Given the description of an element on the screen output the (x, y) to click on. 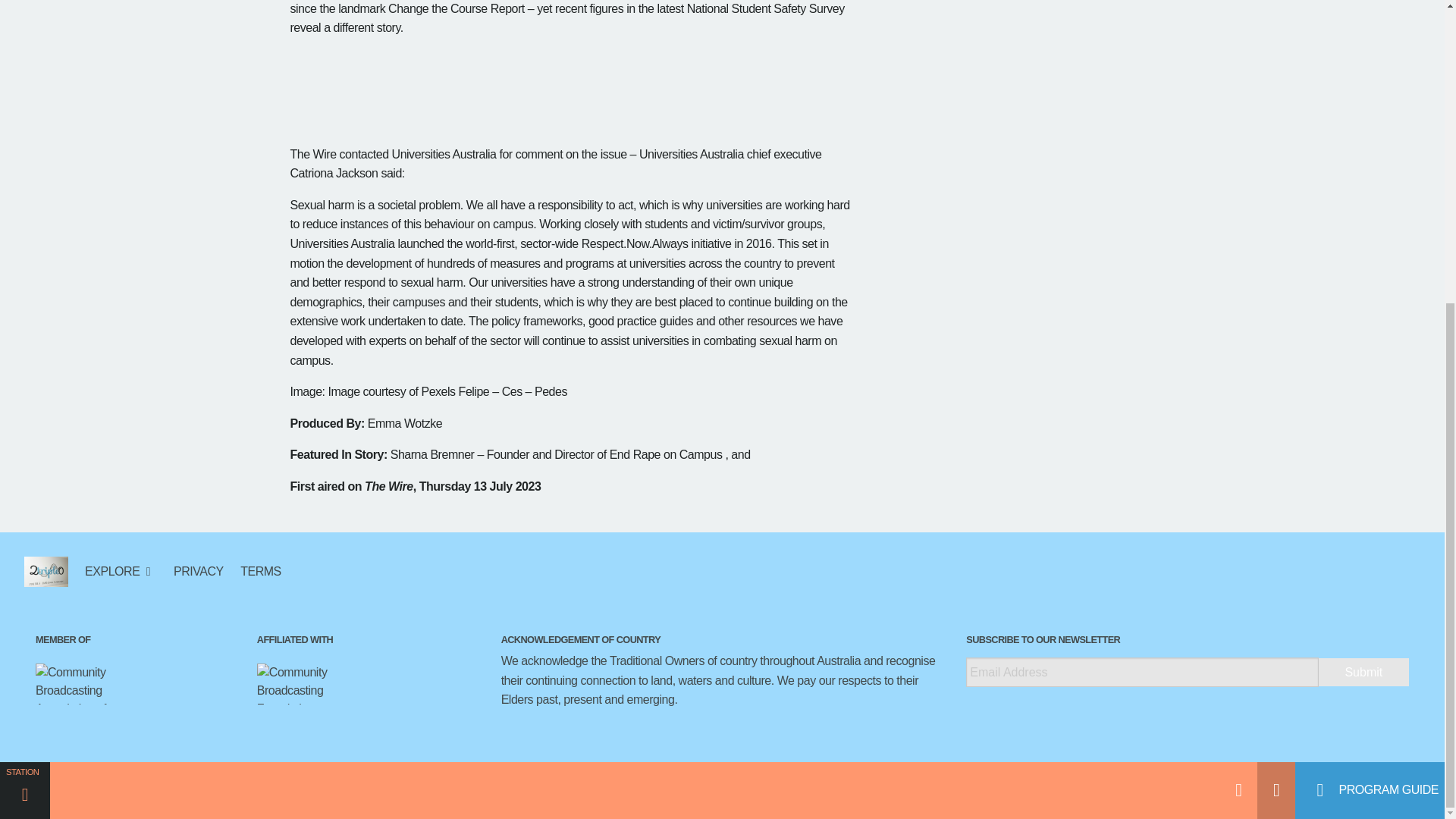
EXPLORE (121, 571)
TERMS (256, 571)
Submit (1364, 672)
PRIVACY (198, 571)
Submit (1364, 672)
